Given the description of an element on the screen output the (x, y) to click on. 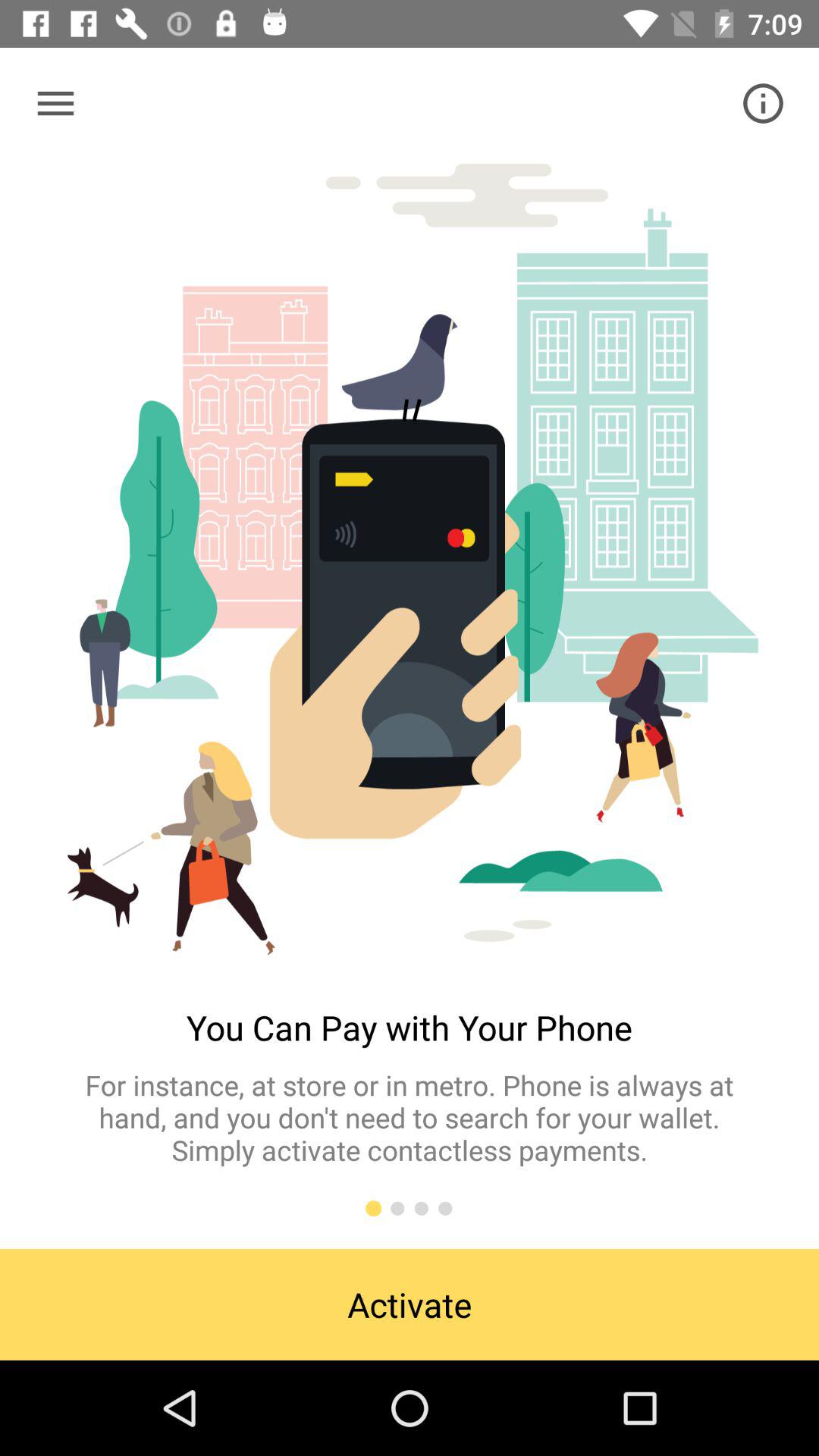
launch item at the top left corner (55, 103)
